Given the description of an element on the screen output the (x, y) to click on. 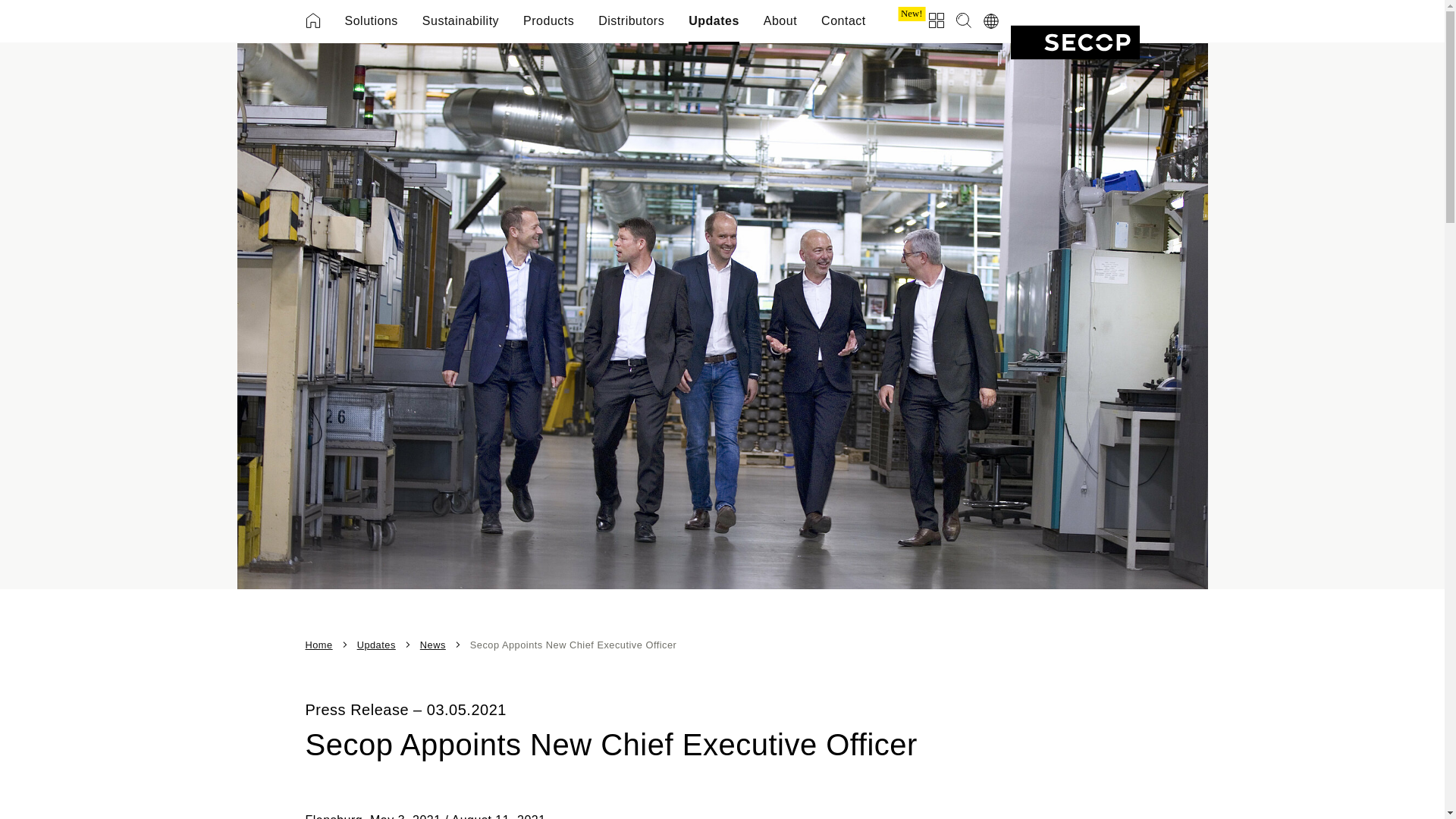
Solutions (370, 21)
About (780, 21)
Products (548, 21)
Distributors (631, 21)
Contact (843, 21)
Home (312, 20)
Updates (714, 21)
Sustainability (460, 21)
